Given the description of an element on the screen output the (x, y) to click on. 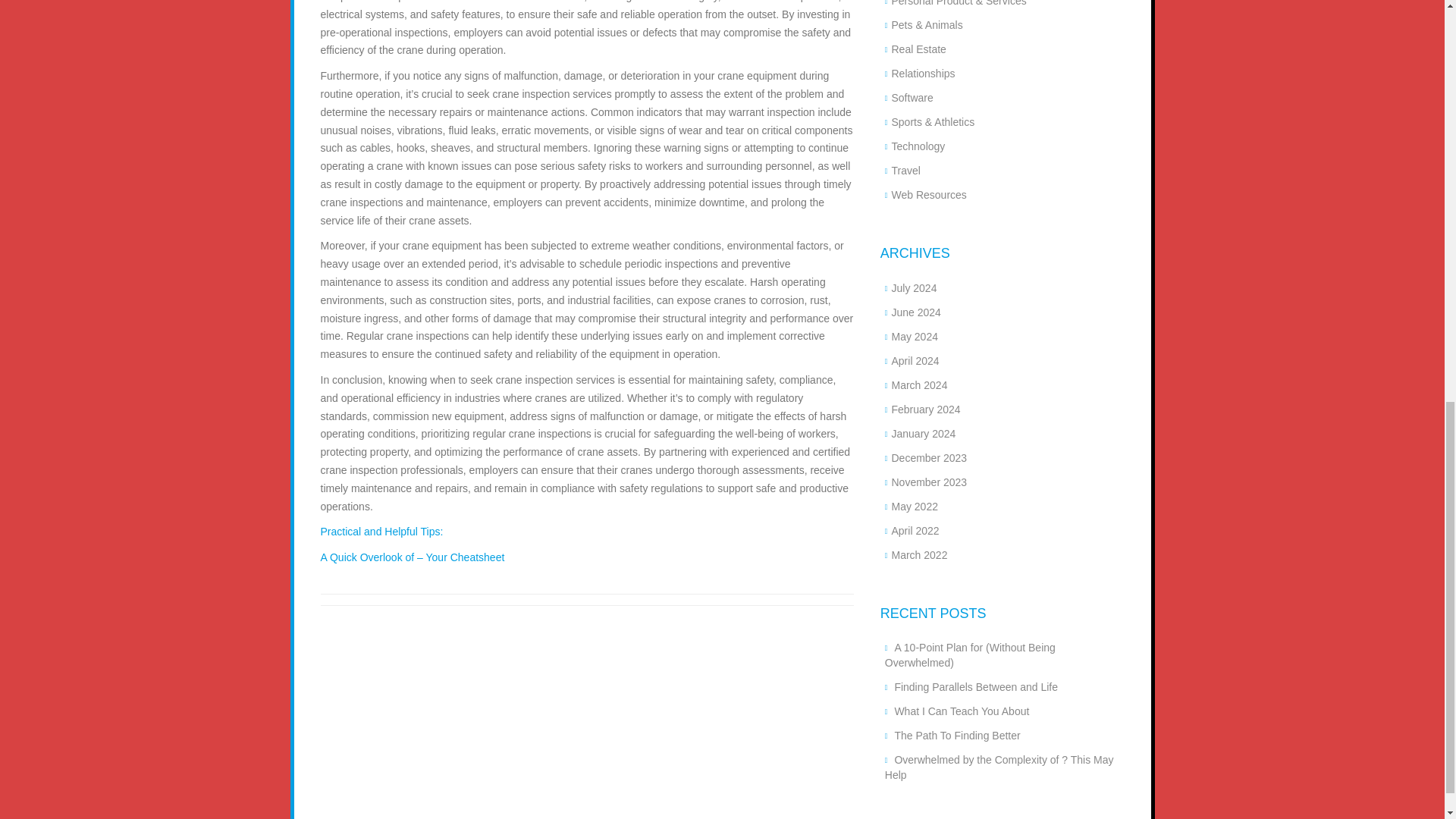
April 2024 (915, 360)
Technology (917, 146)
Real Estate (917, 49)
July 2024 (913, 287)
Travel (905, 170)
May 2024 (914, 336)
March 2024 (919, 385)
Software (912, 97)
Practical and Helpful Tips: (381, 531)
Web Resources (928, 194)
June 2024 (915, 312)
Relationships (923, 73)
